Given the description of an element on the screen output the (x, y) to click on. 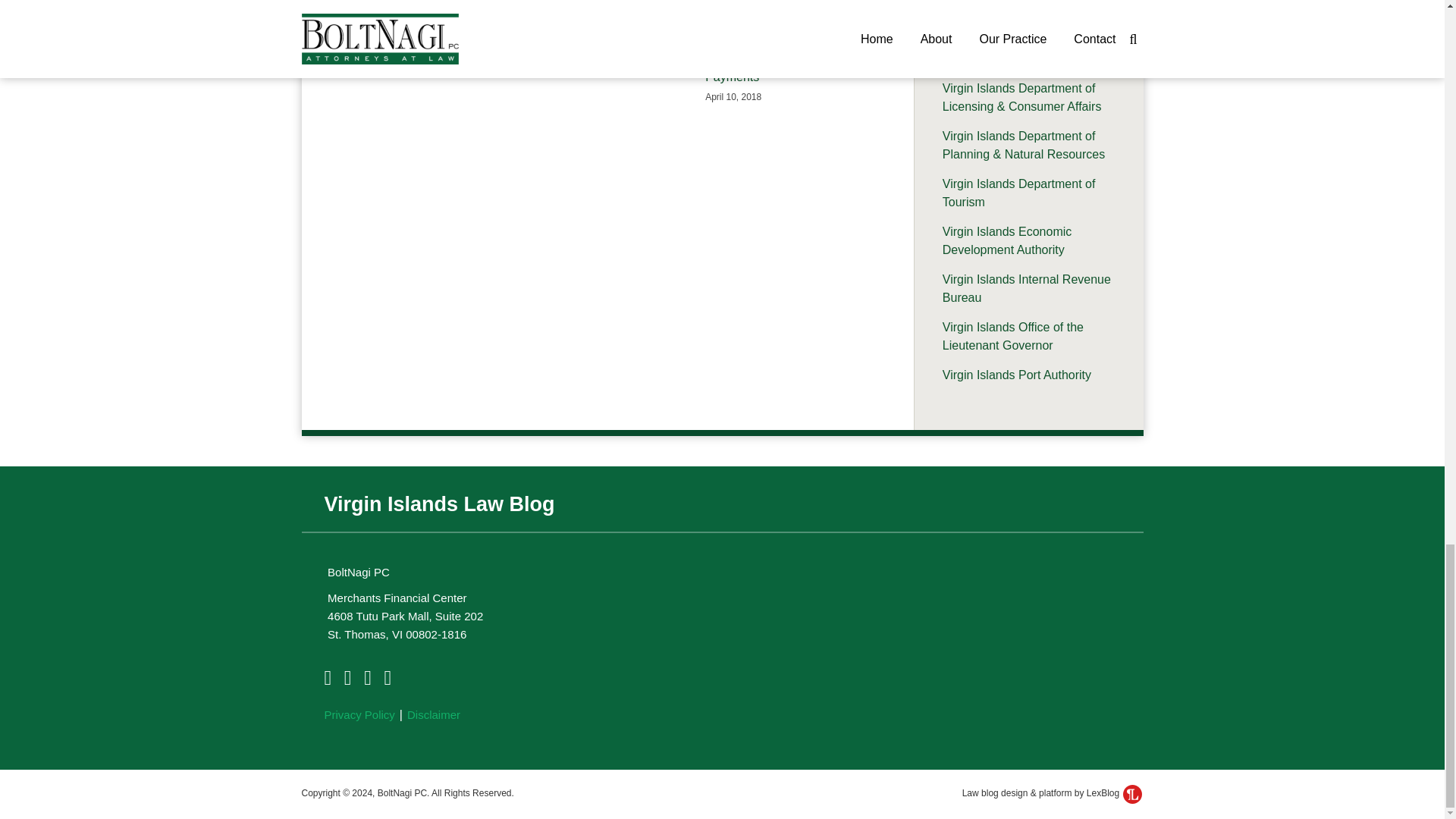
LexBlog Logo (1131, 793)
Signs of Economic Improvement: USVI Bonds Pick Up (434, 30)
Study: USVI Lost 4,500 Jobs After Hurricanes of Fall 2017 (607, 30)
